Given the description of an element on the screen output the (x, y) to click on. 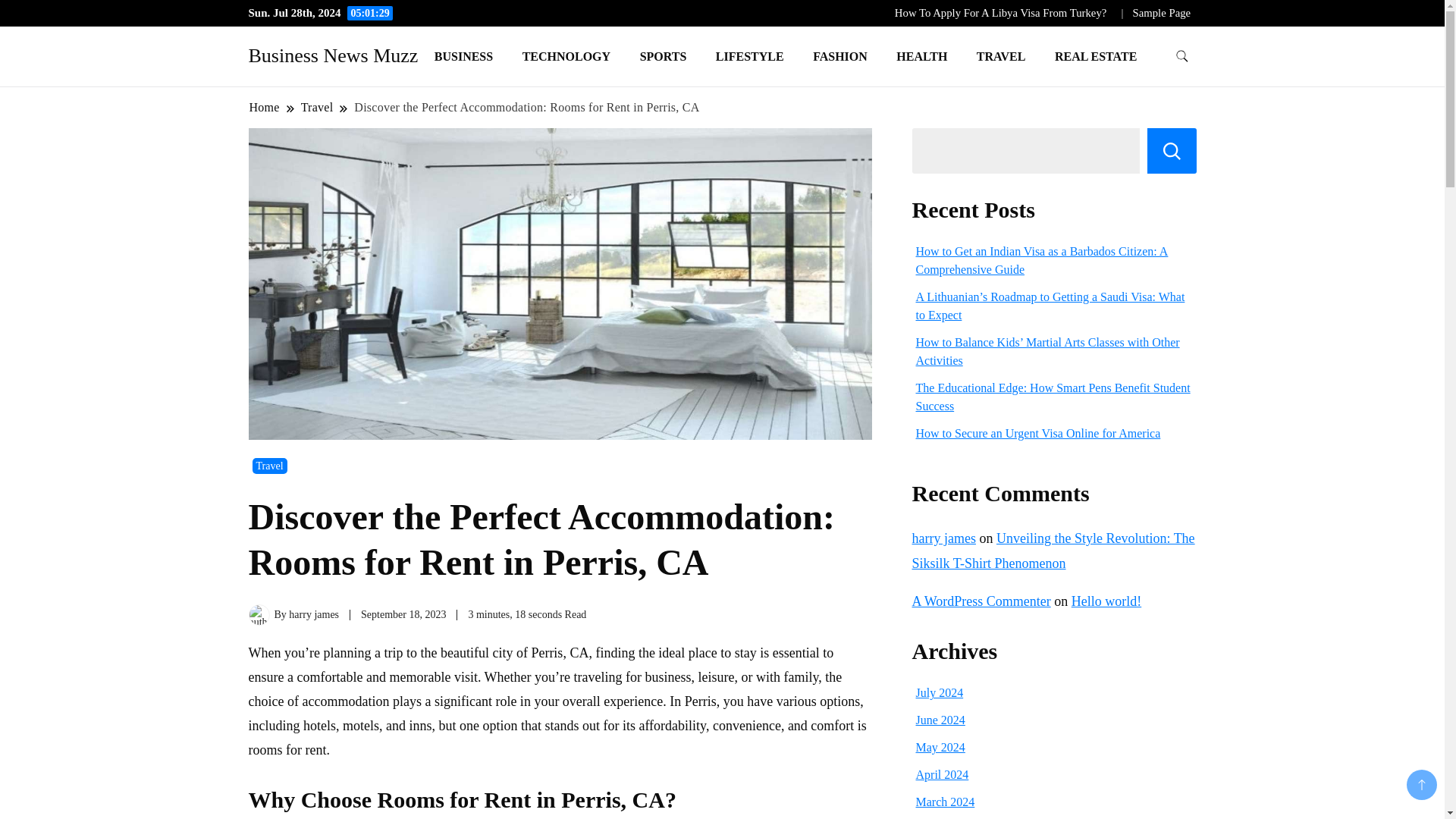
HEALTH (921, 56)
Travel (316, 106)
harry james (313, 614)
SPORTS (663, 56)
TECHNOLOGY (566, 56)
Travel (268, 465)
TRAVEL (1001, 56)
FASHION (839, 56)
LIFESTYLE (749, 56)
How To Apply For A Libya Visa From Turkey? (1000, 12)
REAL ESTATE (1096, 56)
Home (264, 106)
BUSINESS (463, 56)
September 18, 2023 (403, 614)
